Given the description of an element on the screen output the (x, y) to click on. 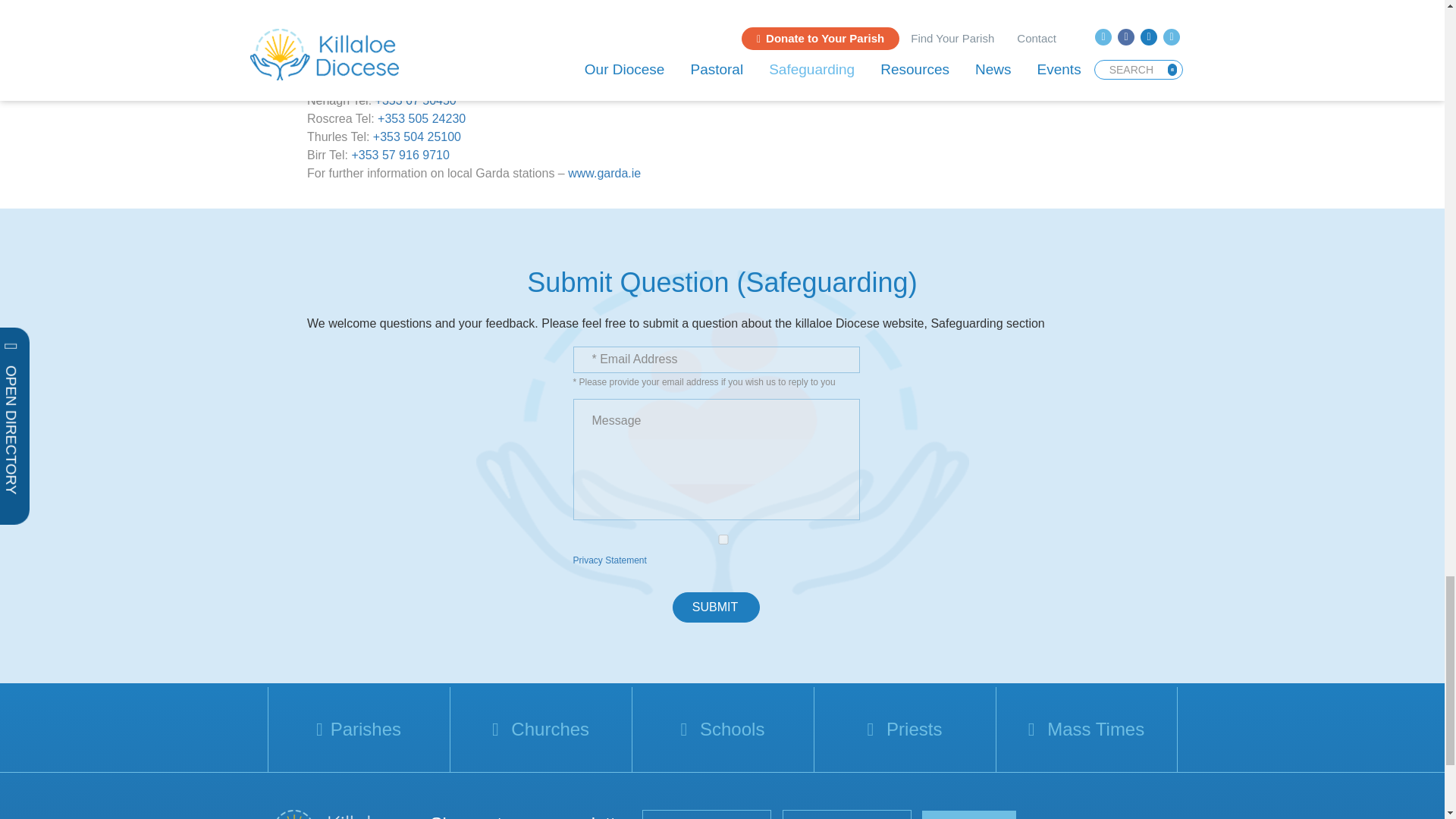
Submit (716, 607)
Accept (722, 539)
